Given the description of an element on the screen output the (x, y) to click on. 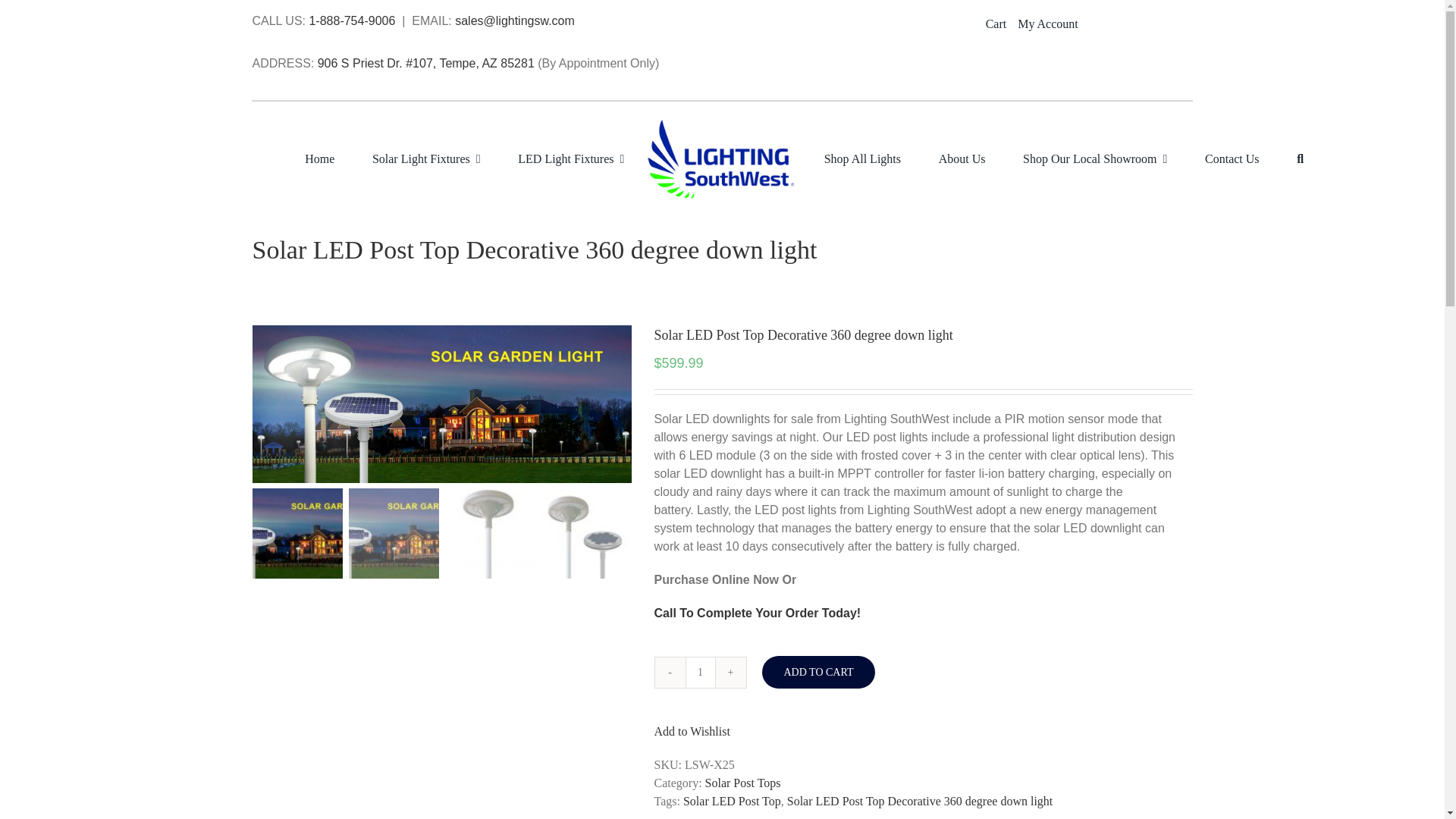
Shop All Lights (862, 159)
1 (700, 672)
- (670, 672)
My Account (1053, 24)
Qty (700, 672)
SLL-X25 Solar Landscape Light (440, 404)
LED Light Fixtures (567, 159)
Shop Our Local Showroom (1094, 159)
1-888-754-9006 (351, 20)
Solar Light Fixtures (422, 159)
